Given the description of an element on the screen output the (x, y) to click on. 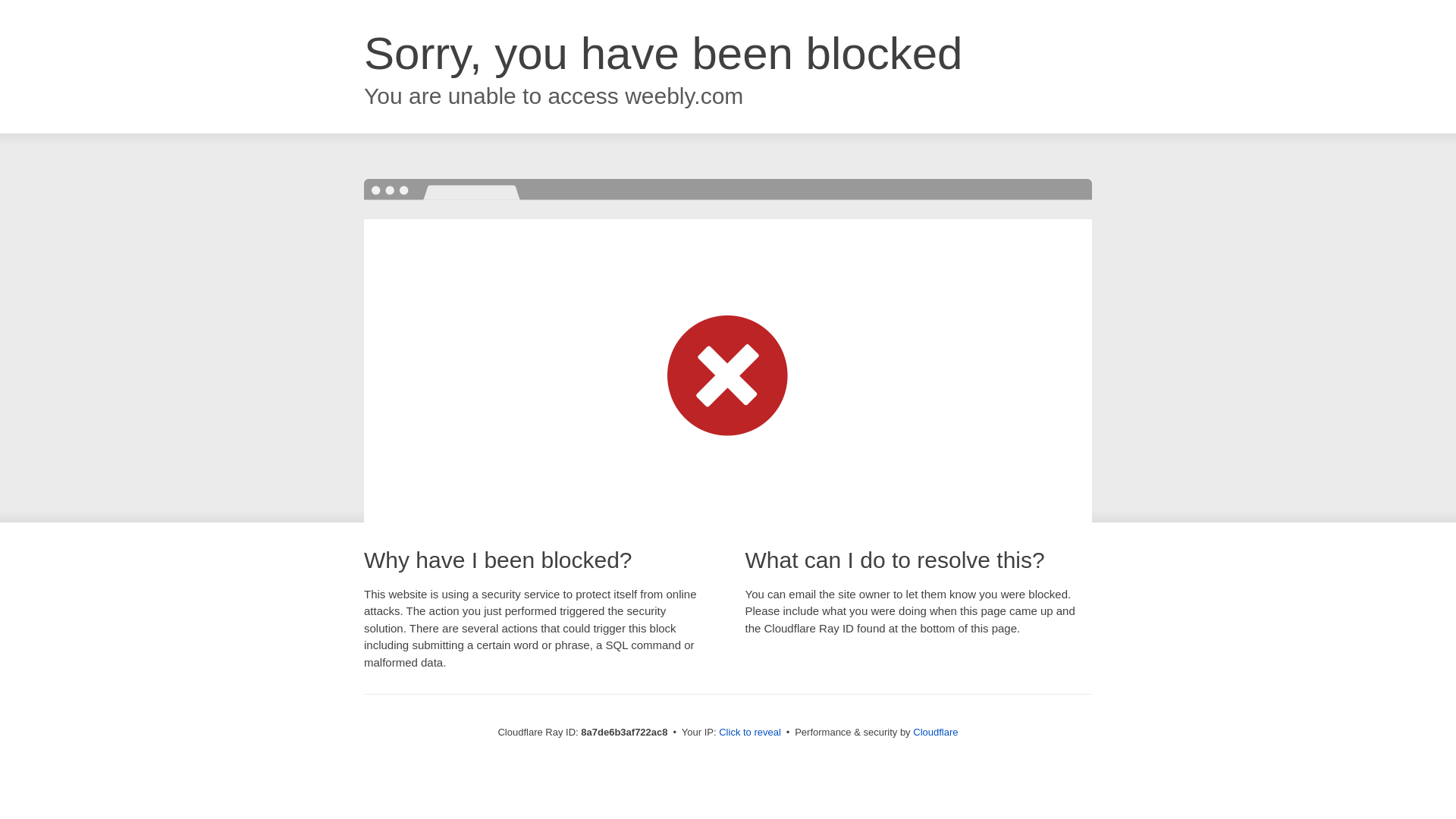
Cloudflare (935, 731)
Click to reveal (749, 732)
